Given the description of an element on the screen output the (x, y) to click on. 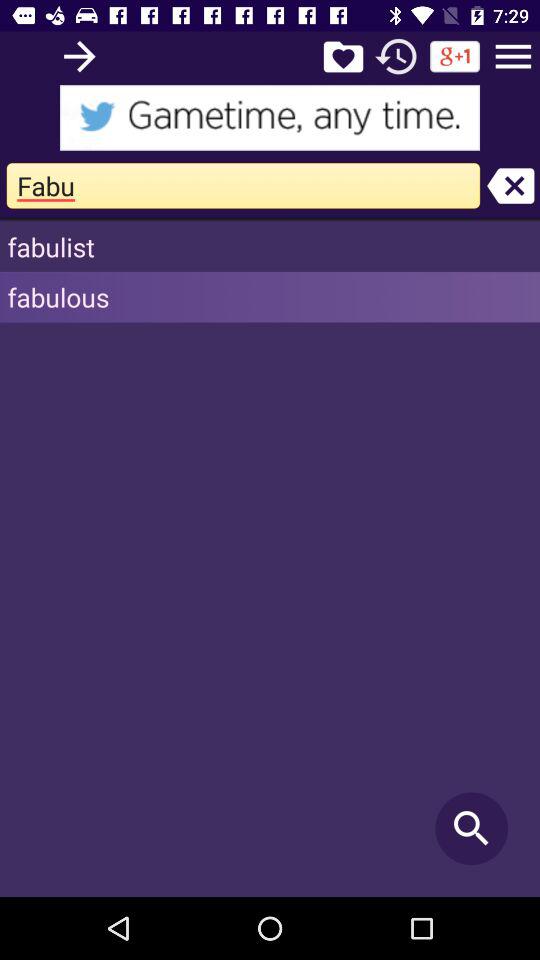
enter search query (79, 56)
